Given the description of an element on the screen output the (x, y) to click on. 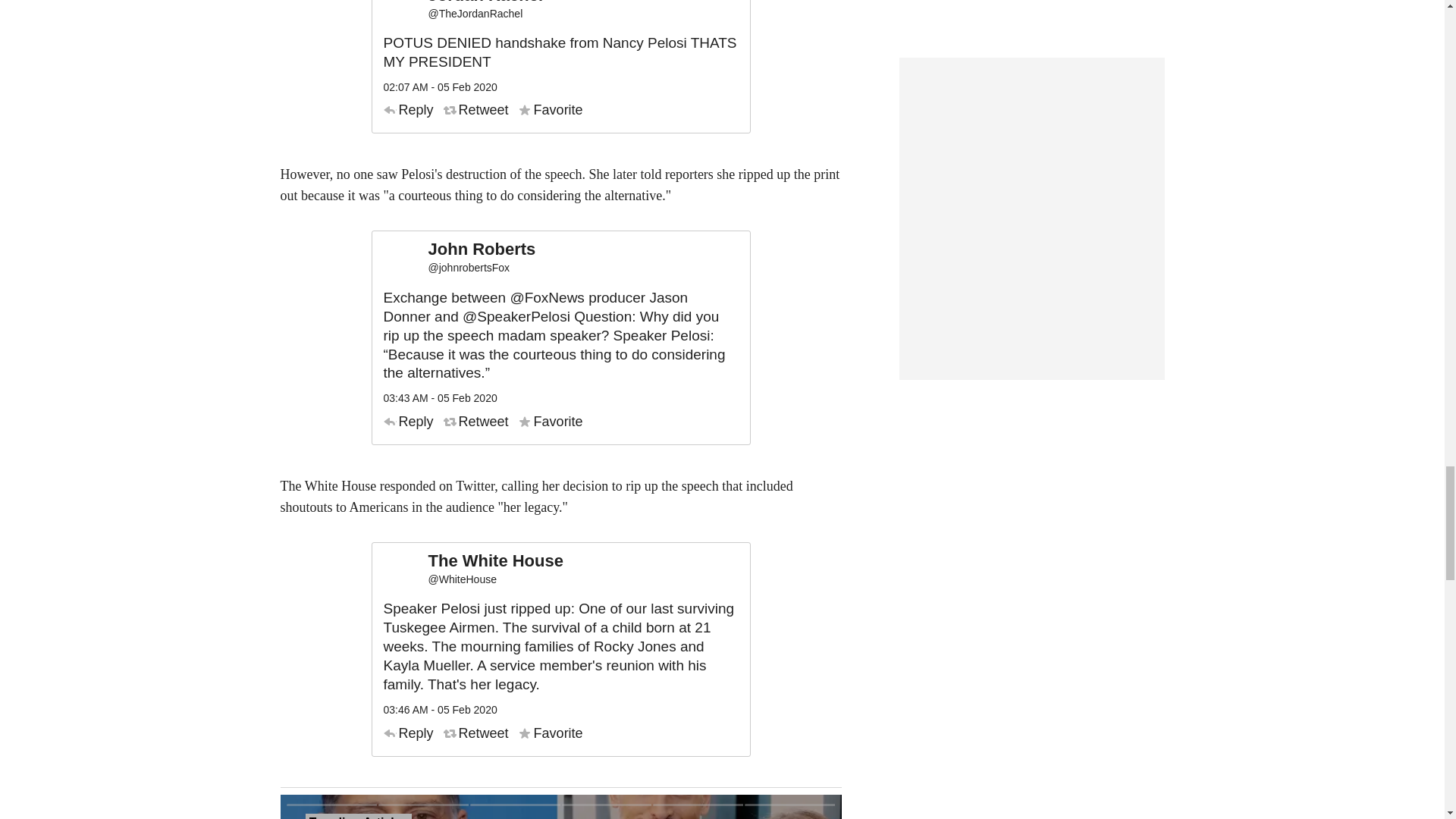
Jordan Rachel (485, 3)
